Given the description of an element on the screen output the (x, y) to click on. 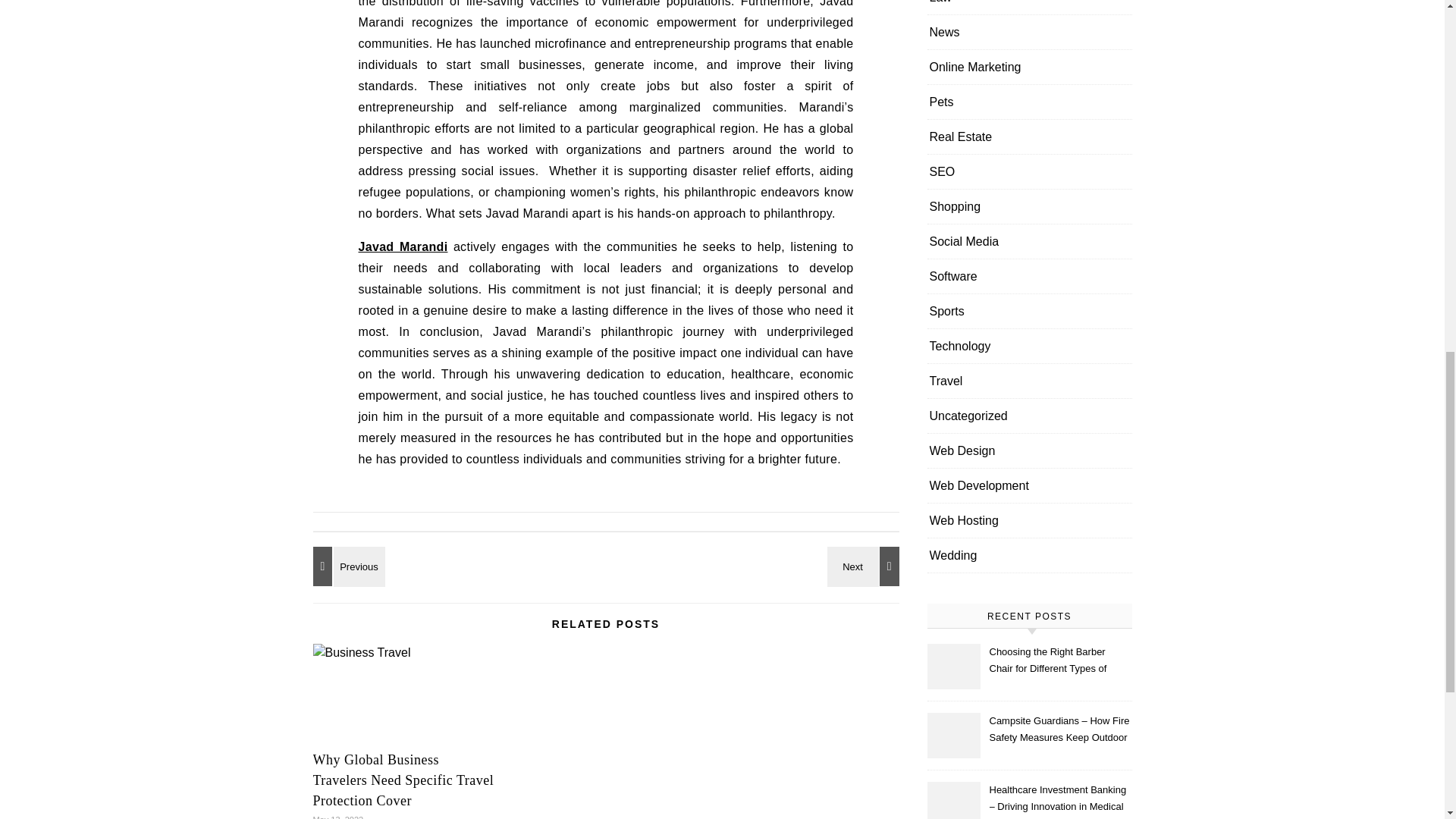
Elevate Your Financial IQ with Our Banking Services (346, 566)
Javad Marandi (402, 246)
Quidditch - The Thrills and Triumphs - A High-Flying Segment (865, 566)
